Given the description of an element on the screen output the (x, y) to click on. 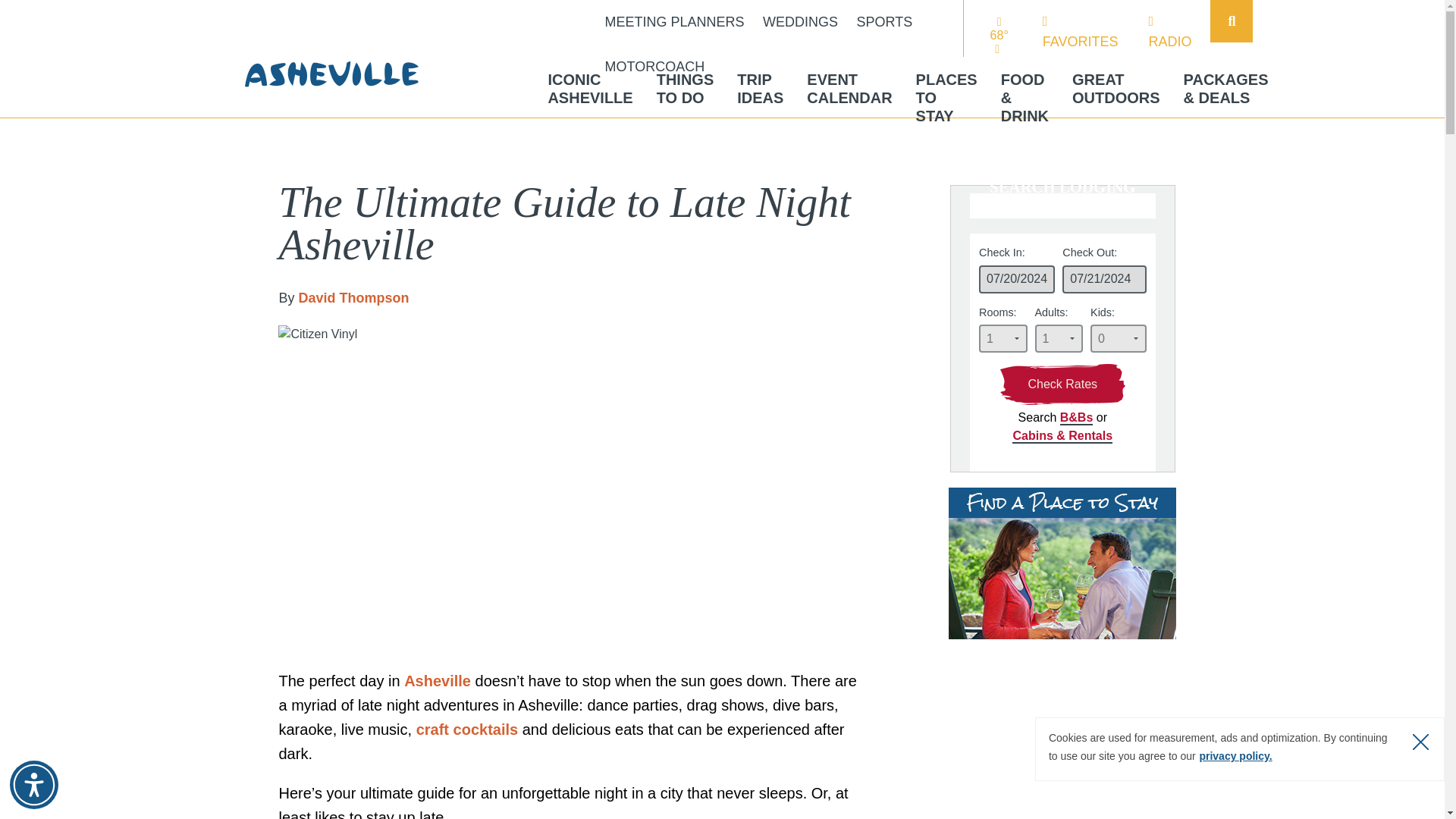
Sports (589, 88)
Accessibility Menu (884, 22)
FAVORITES (34, 784)
RADIO (1079, 31)
WEDDINGS (1169, 31)
Weddings (800, 22)
Meeting Planners (800, 22)
MEETING PLANNERS (674, 22)
Motorcoach (685, 88)
Iconic Asheville (674, 22)
SPORTS (654, 67)
MOTORCOACH (589, 88)
